Given the description of an element on the screen output the (x, y) to click on. 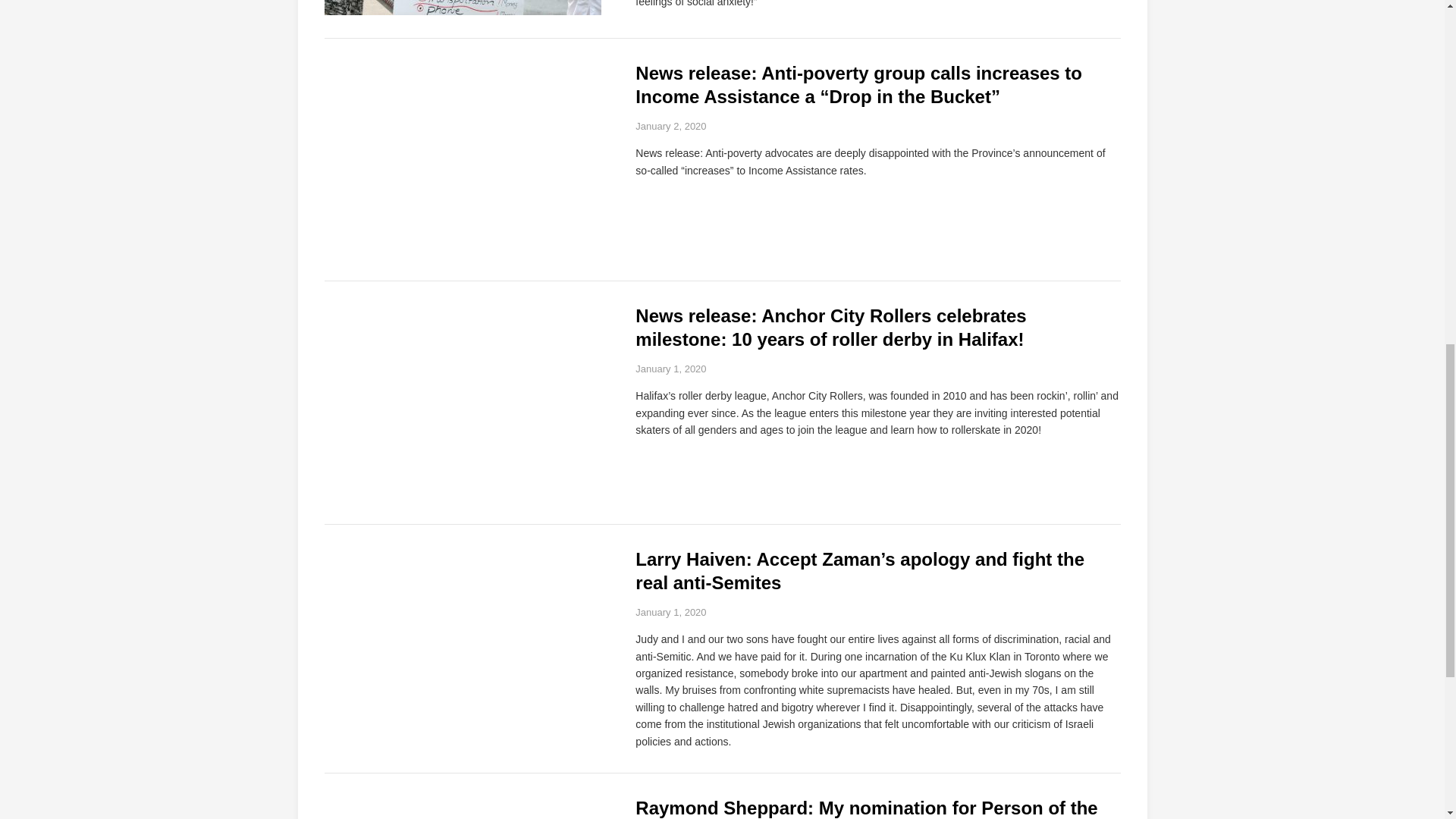
Wednesday, January 1, 2020, 12:37 pm (670, 368)
Thursday, January 2, 2020, 10:33 am (670, 125)
Wednesday, January 1, 2020, 9:48 am (670, 612)
